Given the description of an element on the screen output the (x, y) to click on. 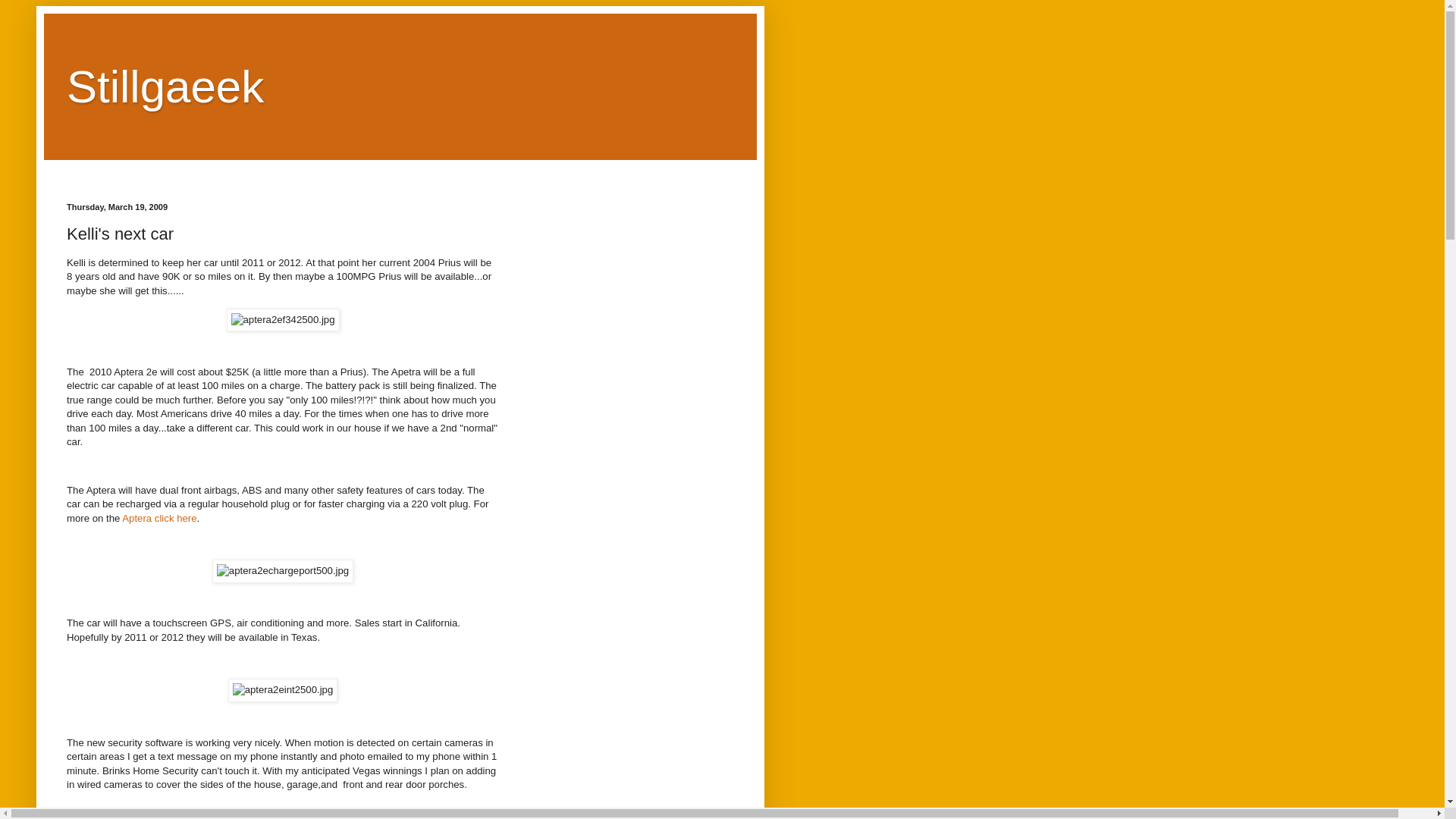
Stillgaeek (164, 86)
Aptera click here (159, 518)
